Given the description of an element on the screen output the (x, y) to click on. 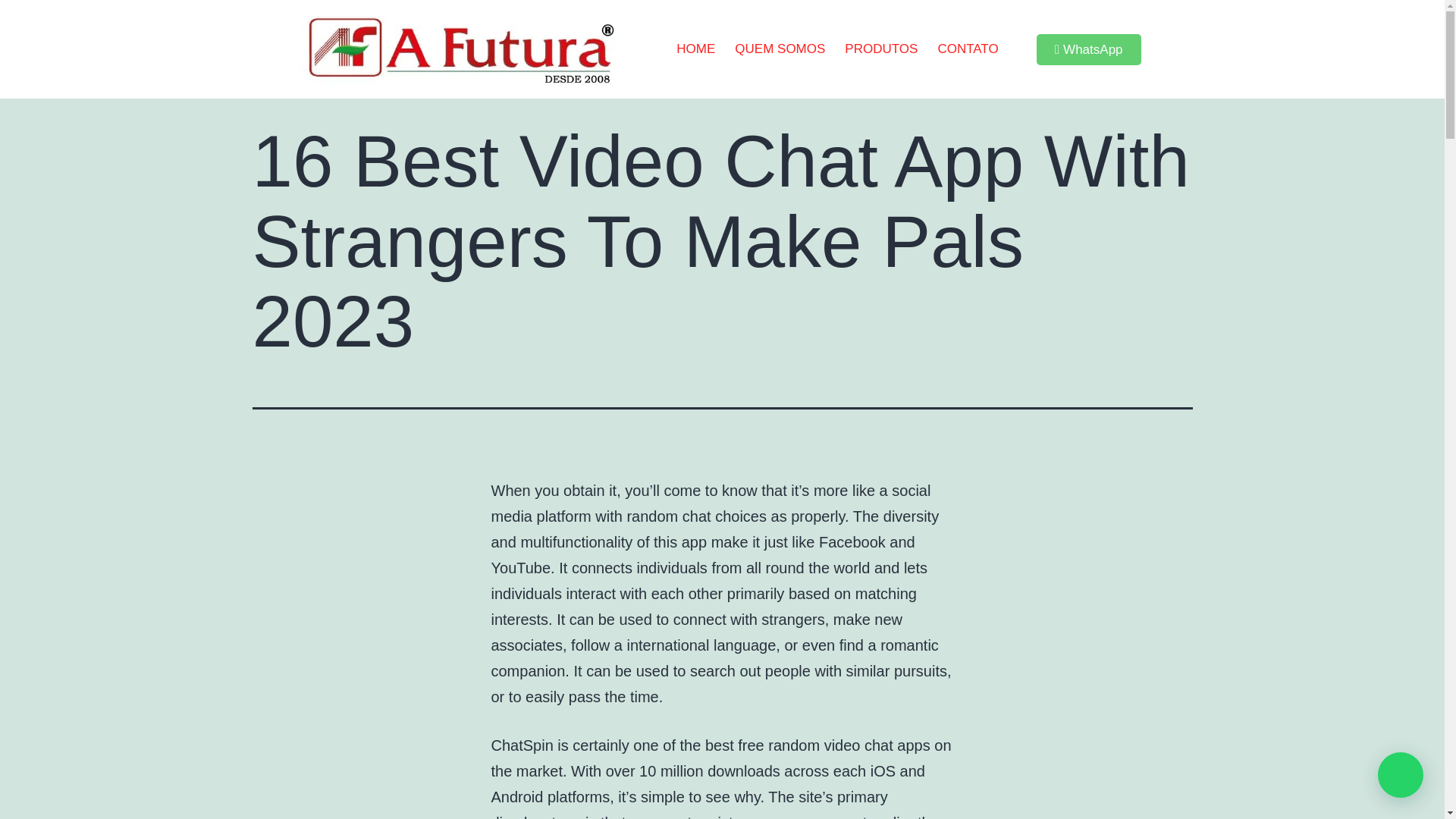
PRODUTOS (880, 48)
CONTATO (967, 48)
QUEM SOMOS (779, 48)
HOME (695, 48)
WhatsApp (1088, 49)
